Given the description of an element on the screen output the (x, y) to click on. 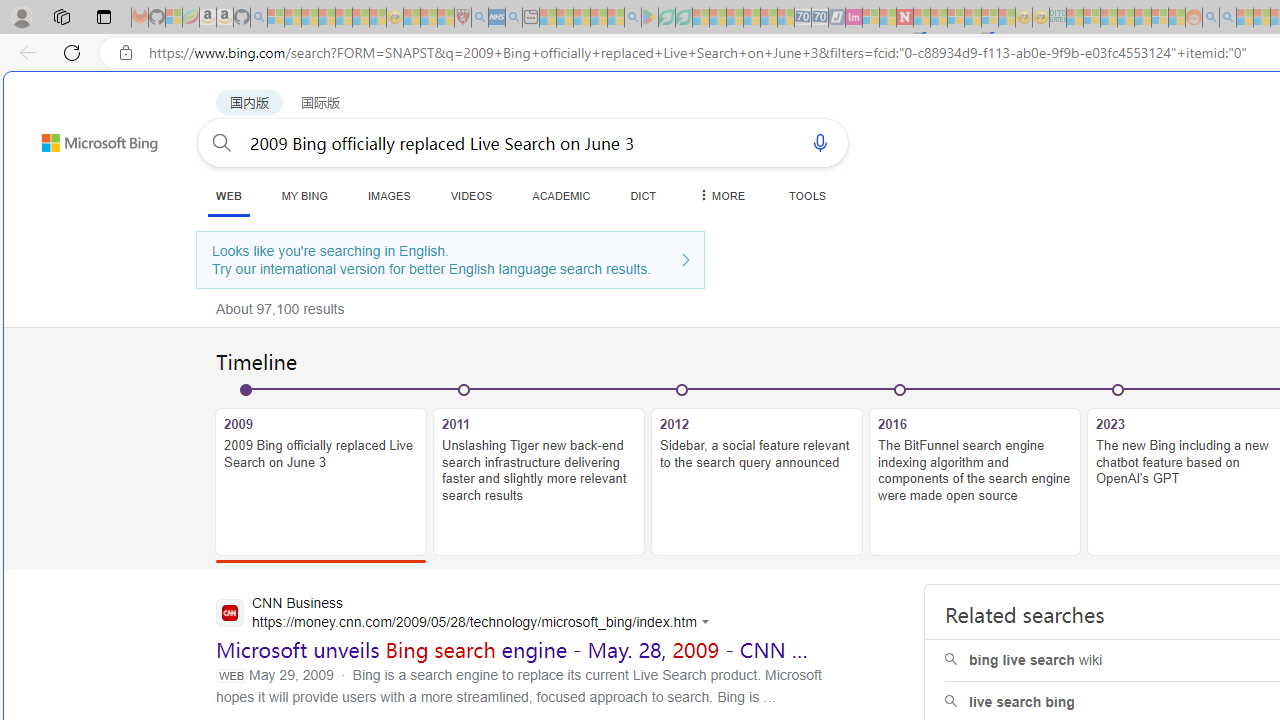
utah sues federal government - Search - Sleeping (513, 17)
Utah sues federal government - Search - Sleeping (1227, 17)
Bluey: Let's Play! - Apps on Google Play - Sleeping (649, 17)
14 Common Myths Debunked By Scientific Facts - Sleeping (938, 17)
Local - MSN - Sleeping (445, 17)
20092009 Bing officially replaced Live Search on June 3 (321, 471)
